Given the description of an element on the screen output the (x, y) to click on. 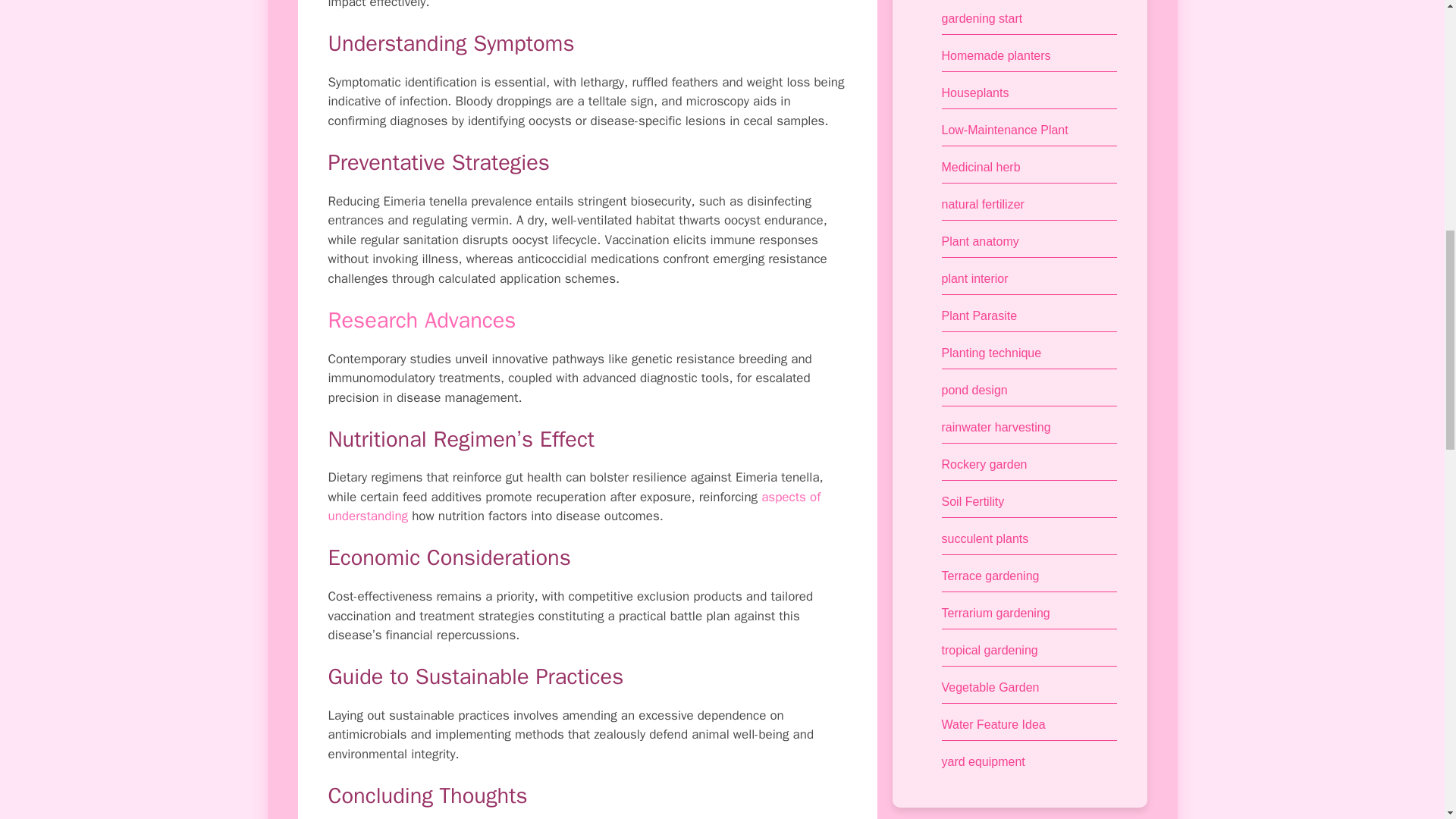
Research Advances (421, 320)
aspects of understanding (574, 506)
